Given the description of an element on the screen output the (x, y) to click on. 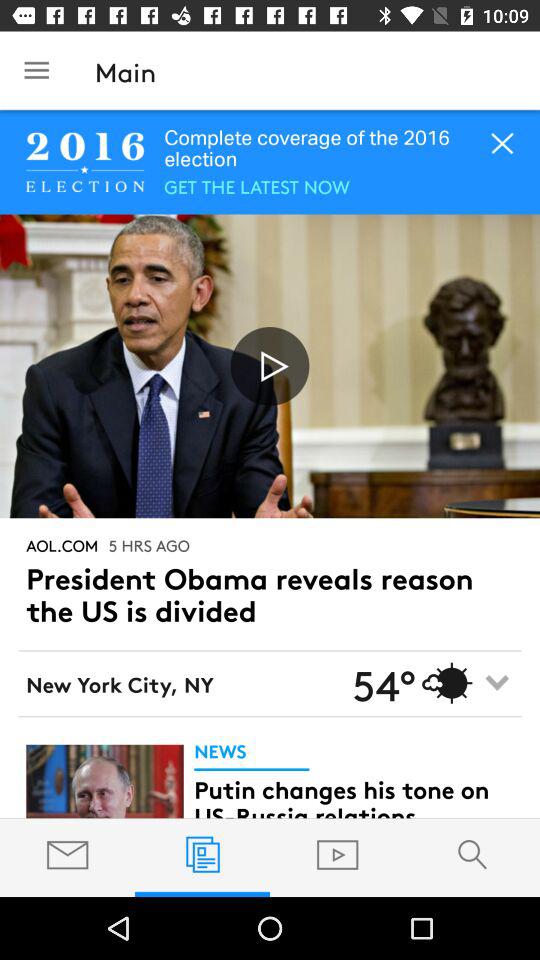
play button (270, 366)
